Given the description of an element on the screen output the (x, y) to click on. 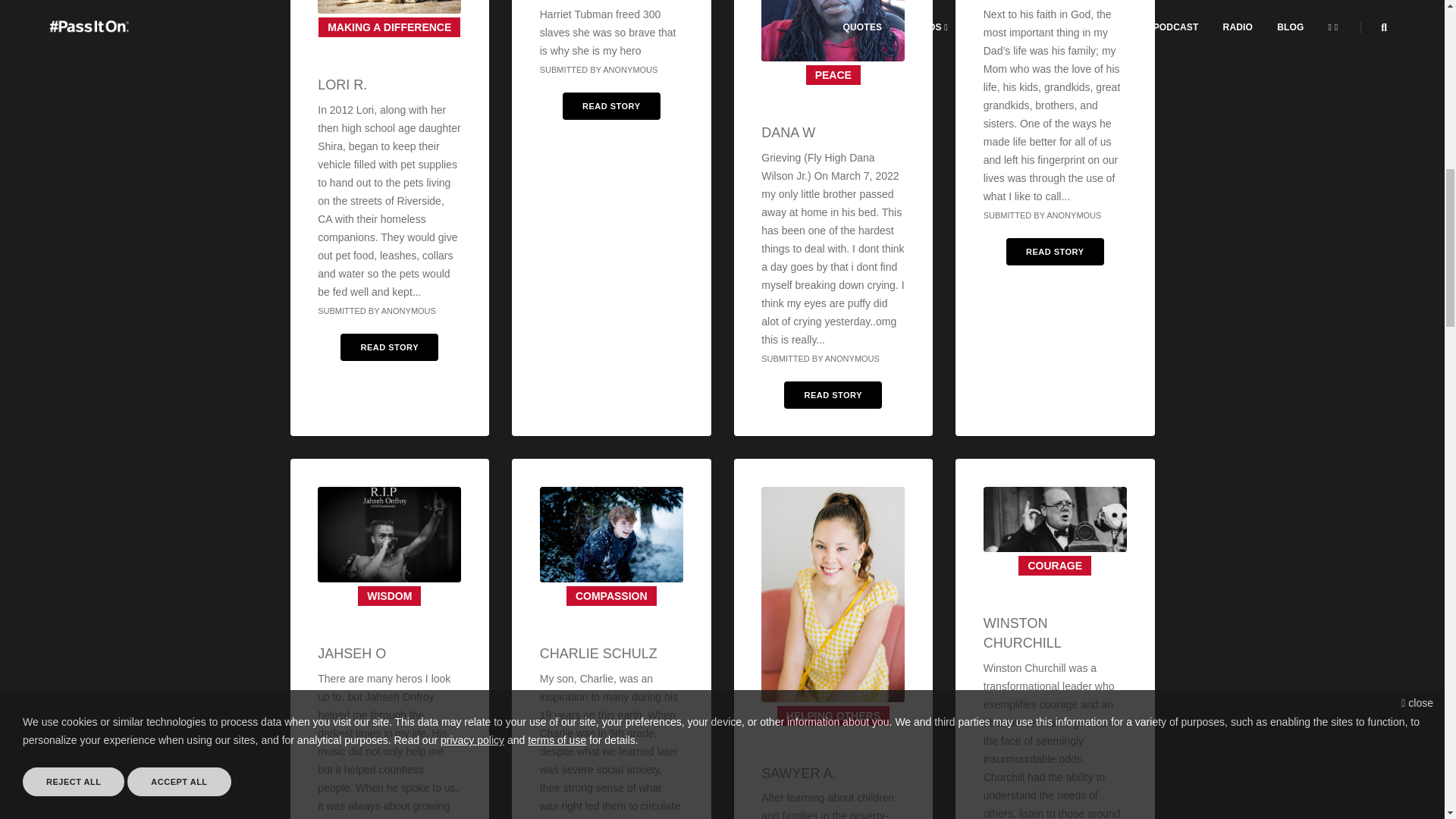
READ STORY (1054, 251)
READ STORY (389, 347)
PEACE (833, 74)
READ STORY (833, 394)
READ STORY (611, 105)
WISDOM (389, 595)
MAKING A DIFFERENCE (389, 26)
